Given the description of an element on the screen output the (x, y) to click on. 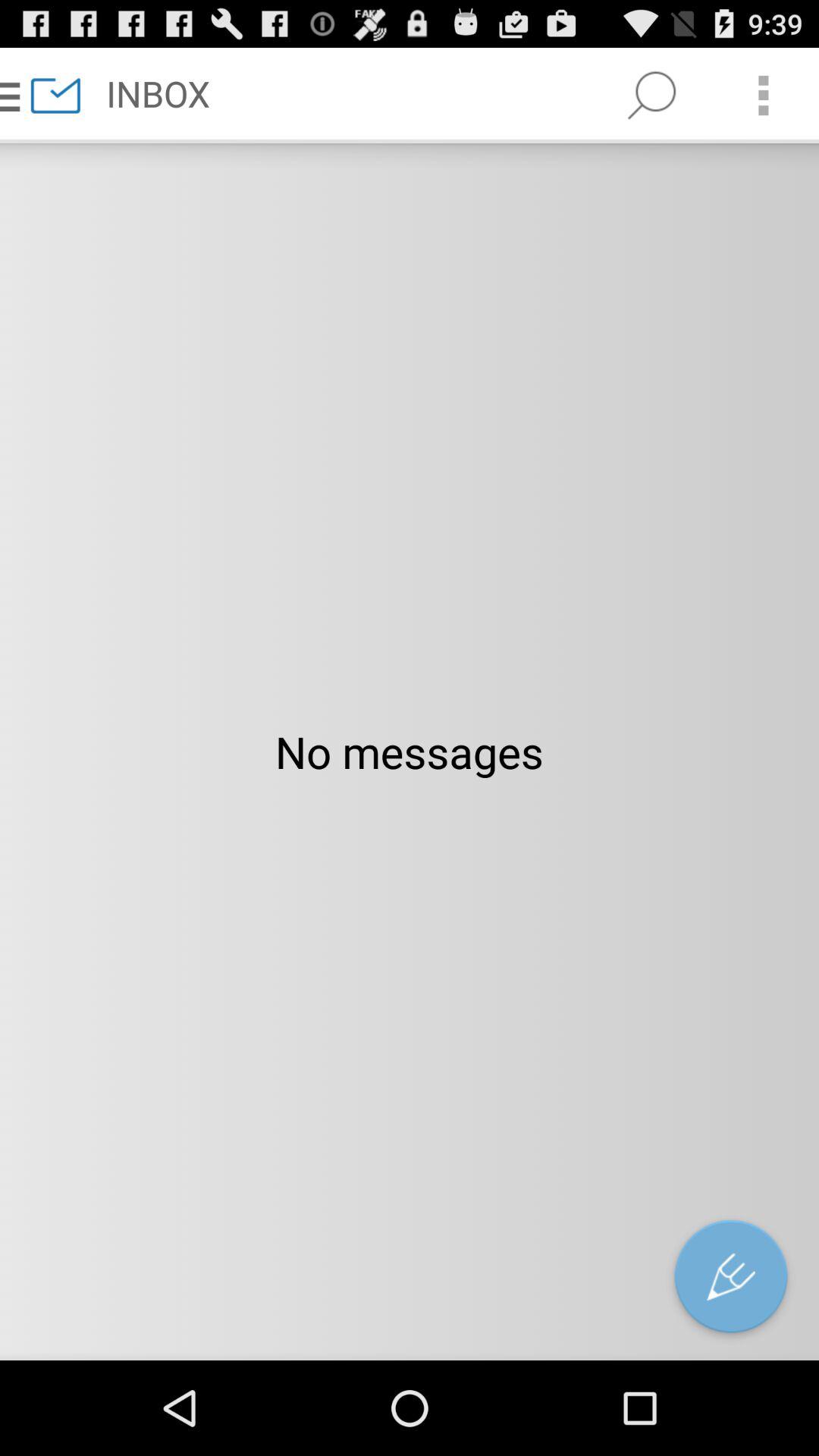
turn off app above no messages (763, 95)
